Given the description of an element on the screen output the (x, y) to click on. 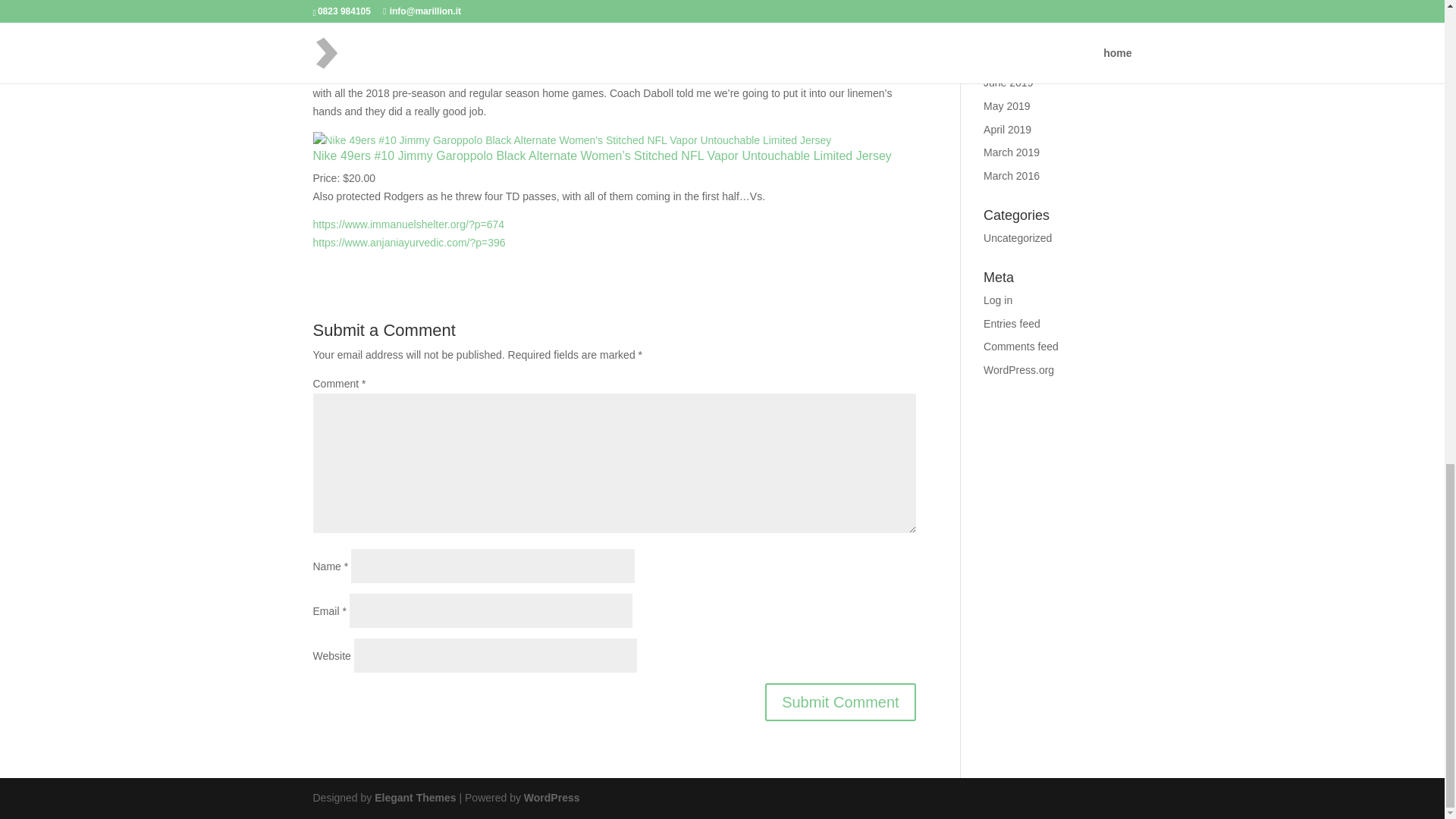
Submit Comment (840, 702)
Submit Comment (840, 702)
Premium WordPress Themes (414, 797)
